Given the description of an element on the screen output the (x, y) to click on. 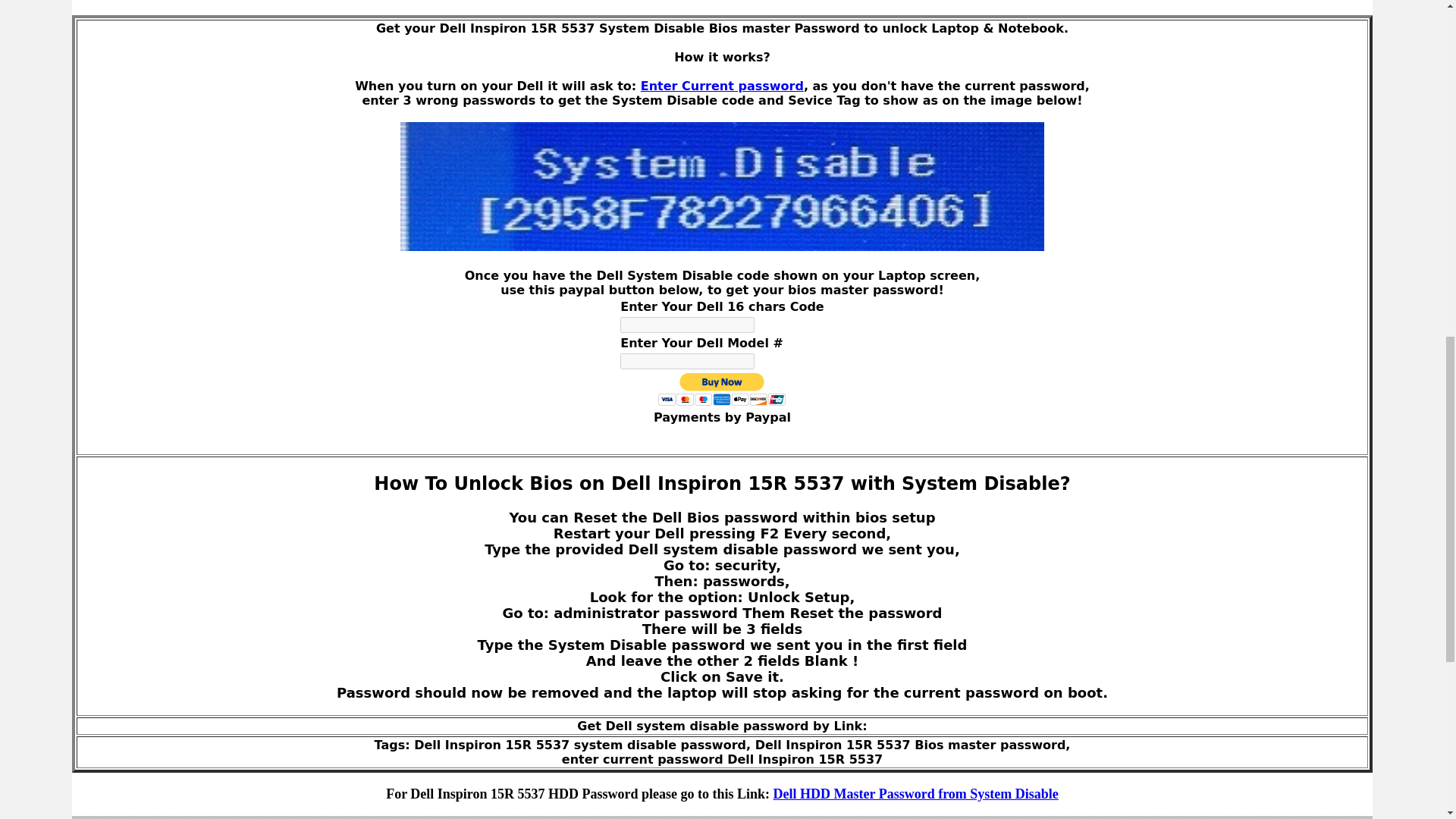
PayPal - The safer, easier way to pay online! (722, 389)
Dell HDD Master Password from System Disable (915, 793)
Enter Current Password Dell (721, 85)
unlock HDD with System Disable (915, 793)
Enter Current password (721, 85)
